Given the description of an element on the screen output the (x, y) to click on. 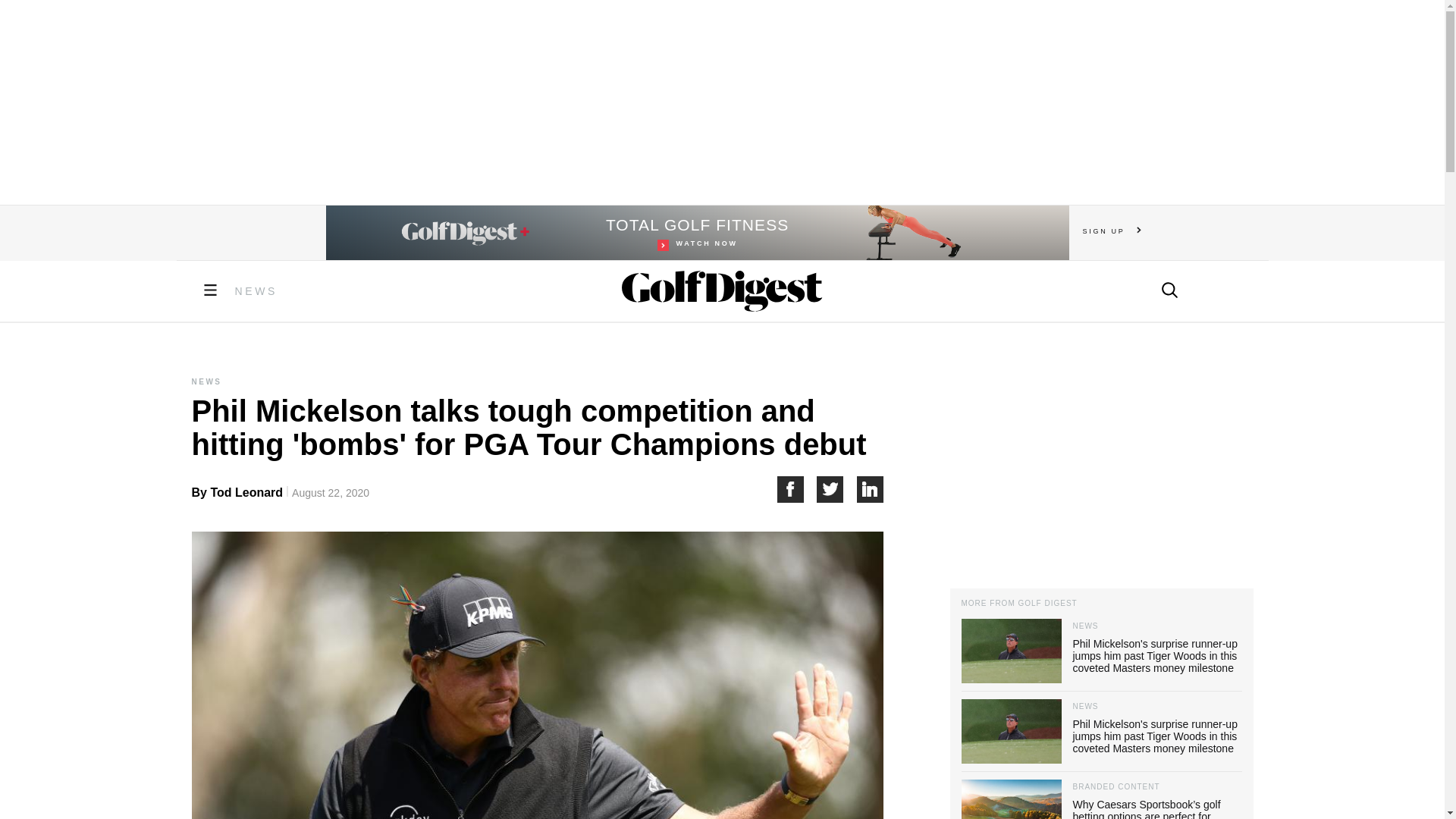
NEWS (256, 291)
SIGN UP (1112, 230)
Share on Twitter (836, 488)
Share on LinkedIn (870, 488)
Share on Facebook (697, 232)
